Given the description of an element on the screen output the (x, y) to click on. 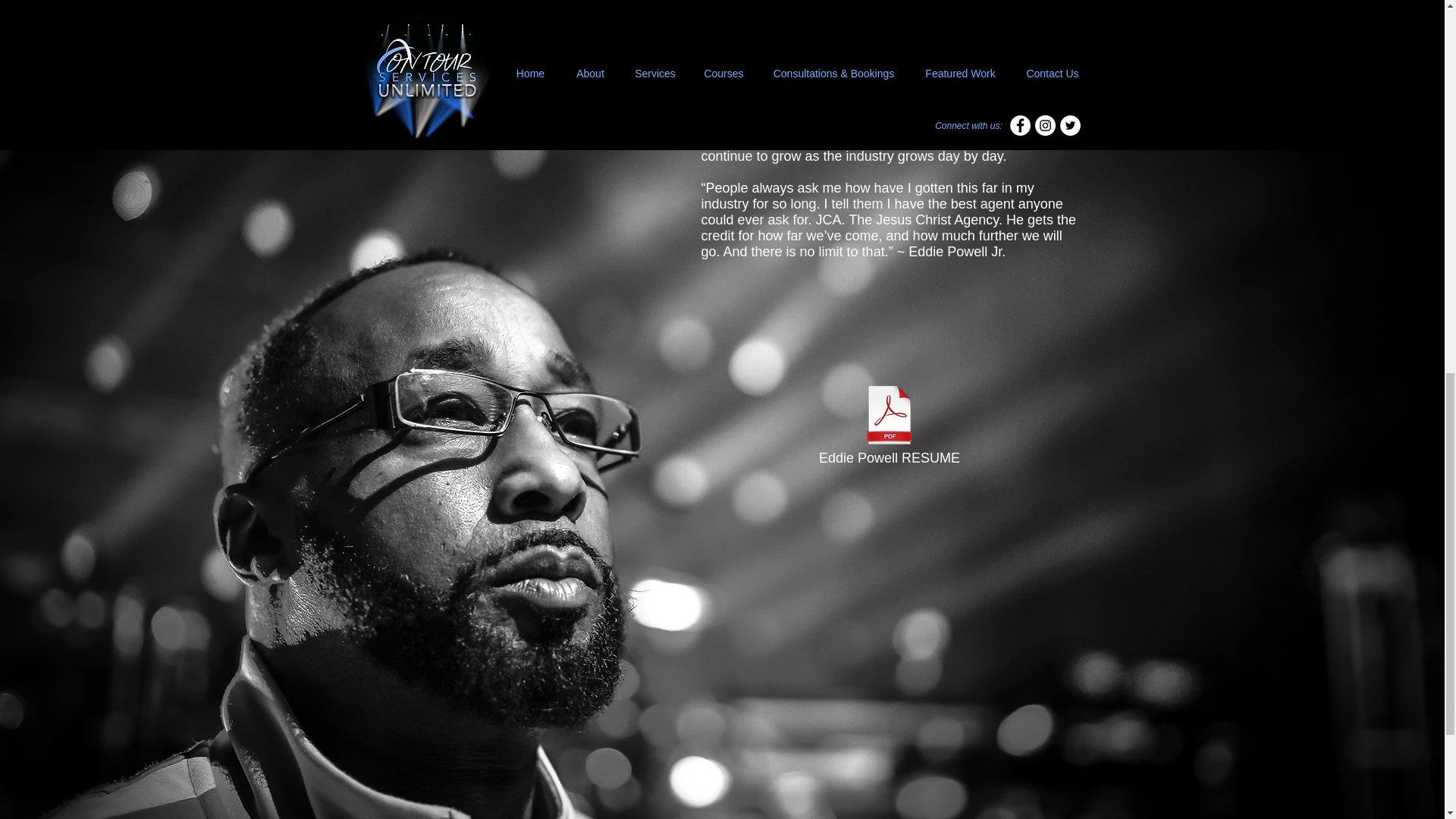
Eddie Powell RESUME (888, 425)
Eddie Powell RESUME (888, 425)
